Given the description of an element on the screen output the (x, y) to click on. 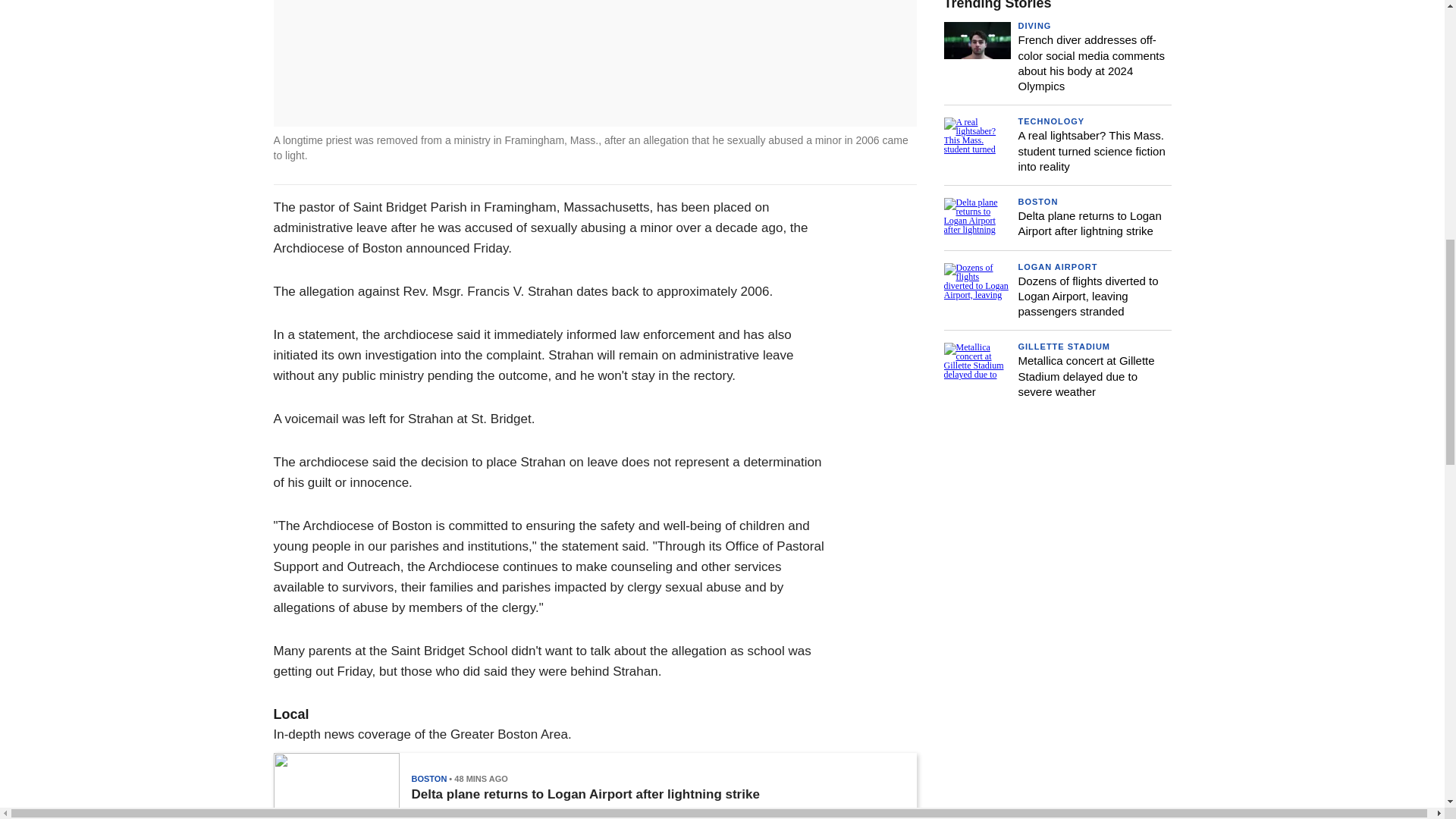
Delta plane returns to Logan Airport after lightning strike (584, 794)
BOSTON (428, 777)
